Given the description of an element on the screen output the (x, y) to click on. 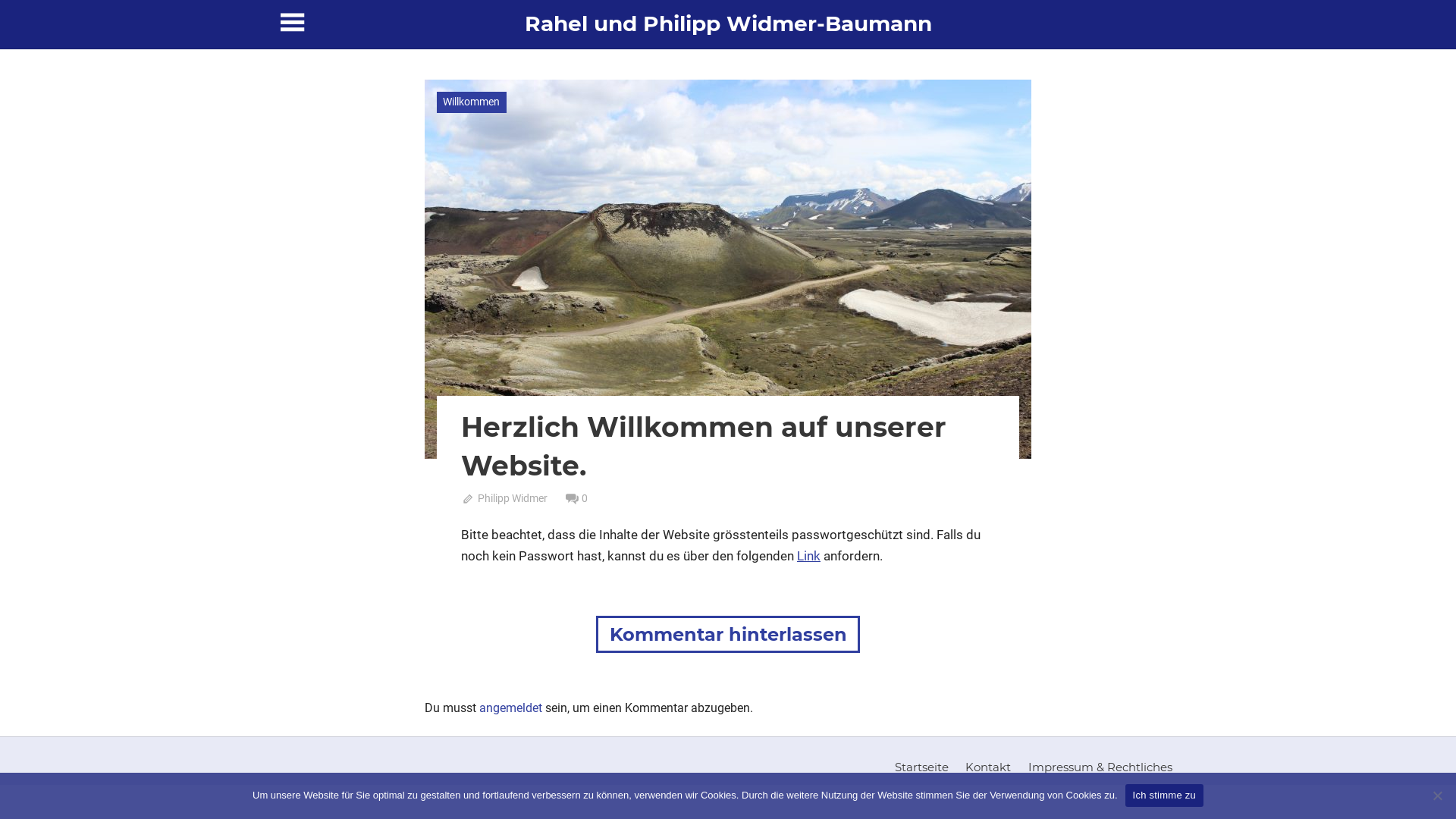
Ich stimme zu Element type: text (1164, 795)
Ich stimme nicht zu Element type: hover (1436, 795)
Rahel und Philipp Widmer-Baumann Element type: text (727, 23)
angemeldet Element type: text (510, 707)
Impressum & Rechtliches Element type: text (1099, 767)
Kontakt Element type: text (988, 767)
0 Element type: text (576, 498)
15. Februar 2017 Element type: text (509, 498)
Philipp Widmer Element type: text (504, 498)
Link Element type: text (808, 555)
Startseite Element type: text (921, 767)
Willkommen Element type: text (471, 101)
